Given the description of an element on the screen output the (x, y) to click on. 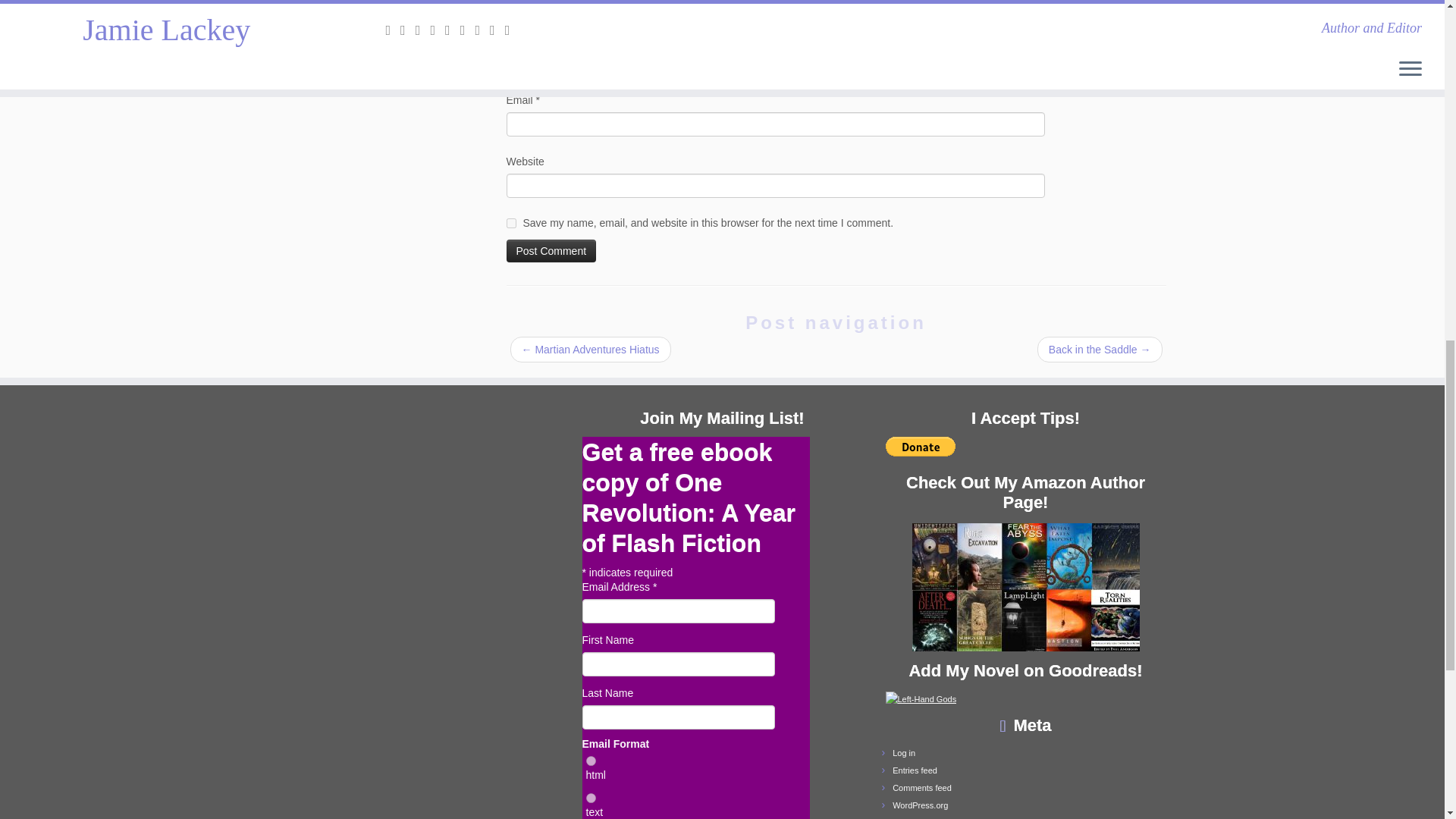
yes (511, 223)
Log in (903, 752)
text (590, 798)
Post Comment (551, 250)
html (590, 760)
Post Comment (551, 250)
